Given the description of an element on the screen output the (x, y) to click on. 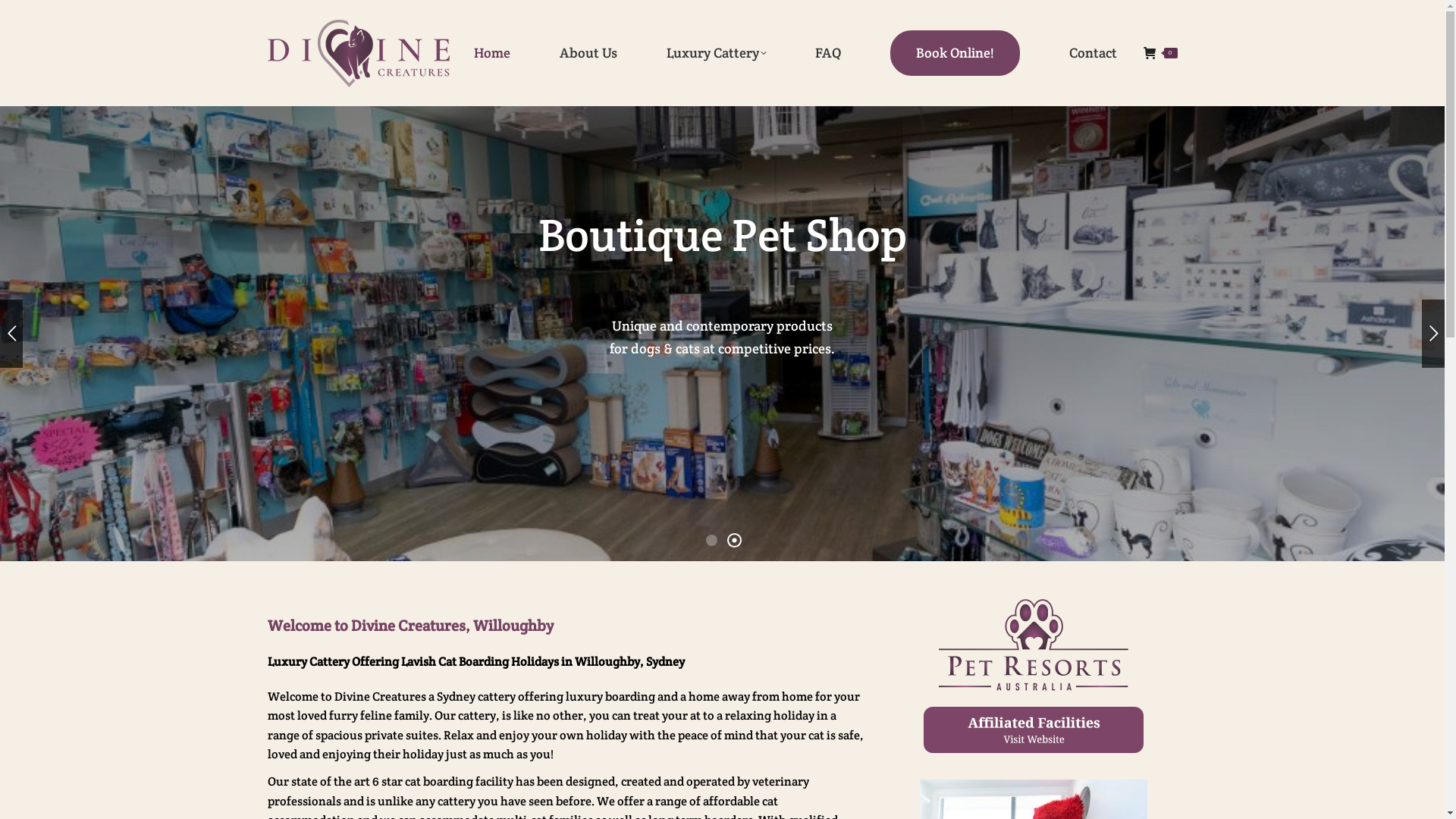
Home Element type: text (491, 53)
FAQ Element type: text (828, 53)
logo-pra-affilliated-facilities Element type: hover (1033, 676)
 0 Element type: text (1160, 52)
Book Online! Element type: text (955, 53)
Contact Element type: text (1093, 53)
About Us Element type: text (587, 53)
Luxury Cattery Element type: text (715, 53)
